Given the description of an element on the screen output the (x, y) to click on. 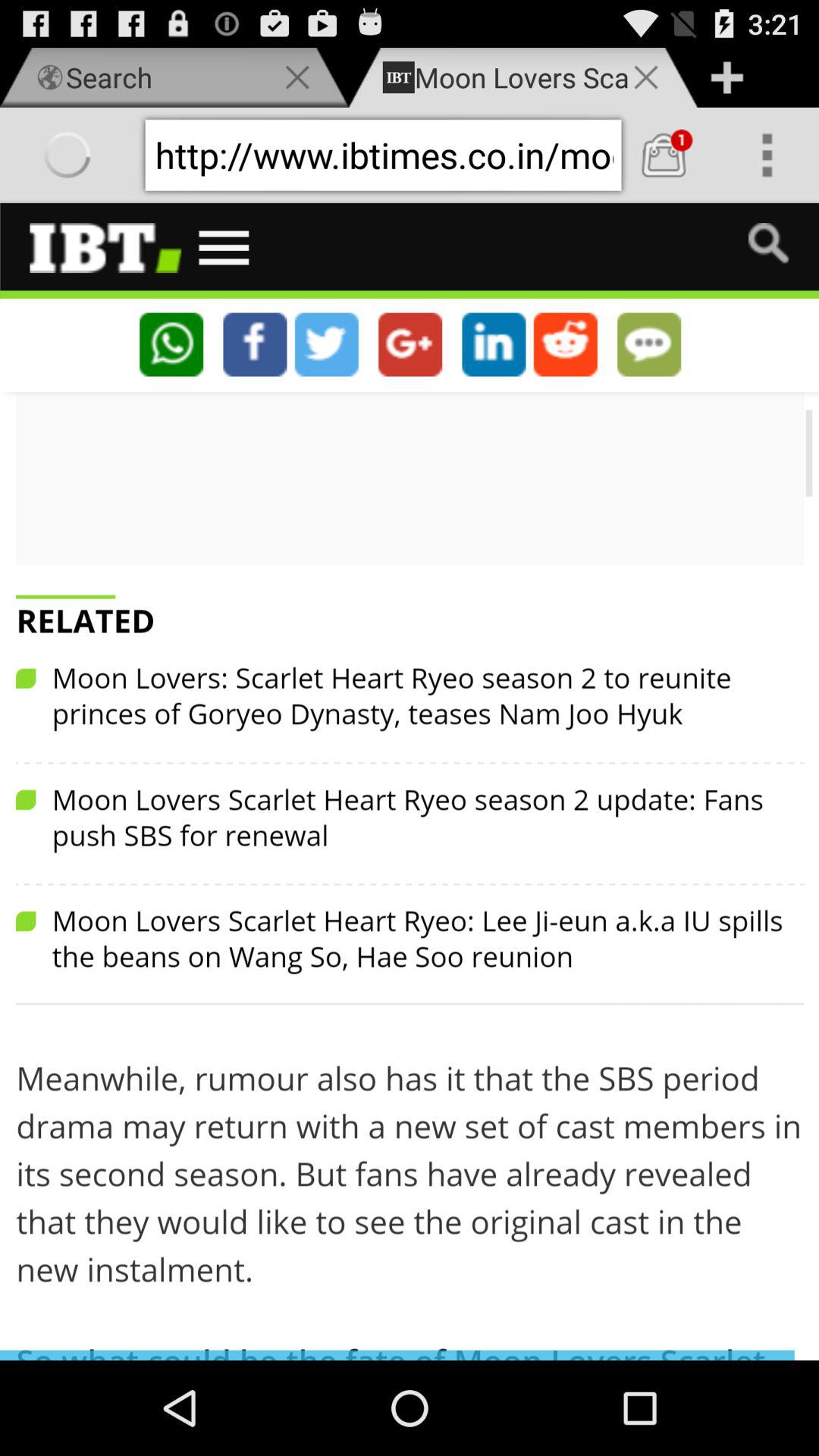
main window (409, 781)
